Given the description of an element on the screen output the (x, y) to click on. 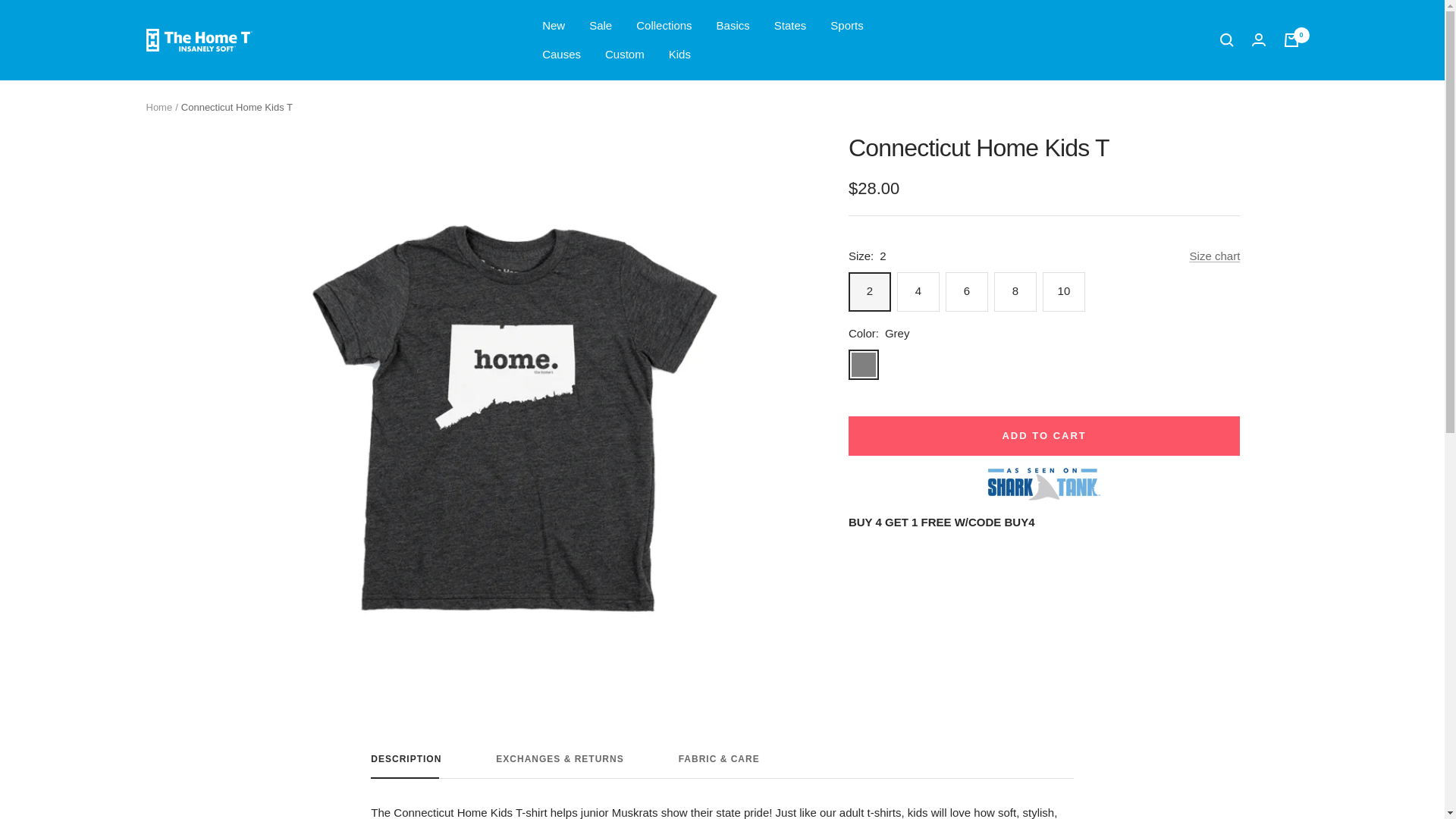
DESCRIPTION (406, 765)
Home (158, 107)
States (790, 25)
Sports (846, 25)
Size chart (1214, 256)
Basics (732, 25)
0 (1291, 39)
Kids (679, 54)
Causes (560, 54)
New (552, 25)
Custom (625, 54)
